Given the description of an element on the screen output the (x, y) to click on. 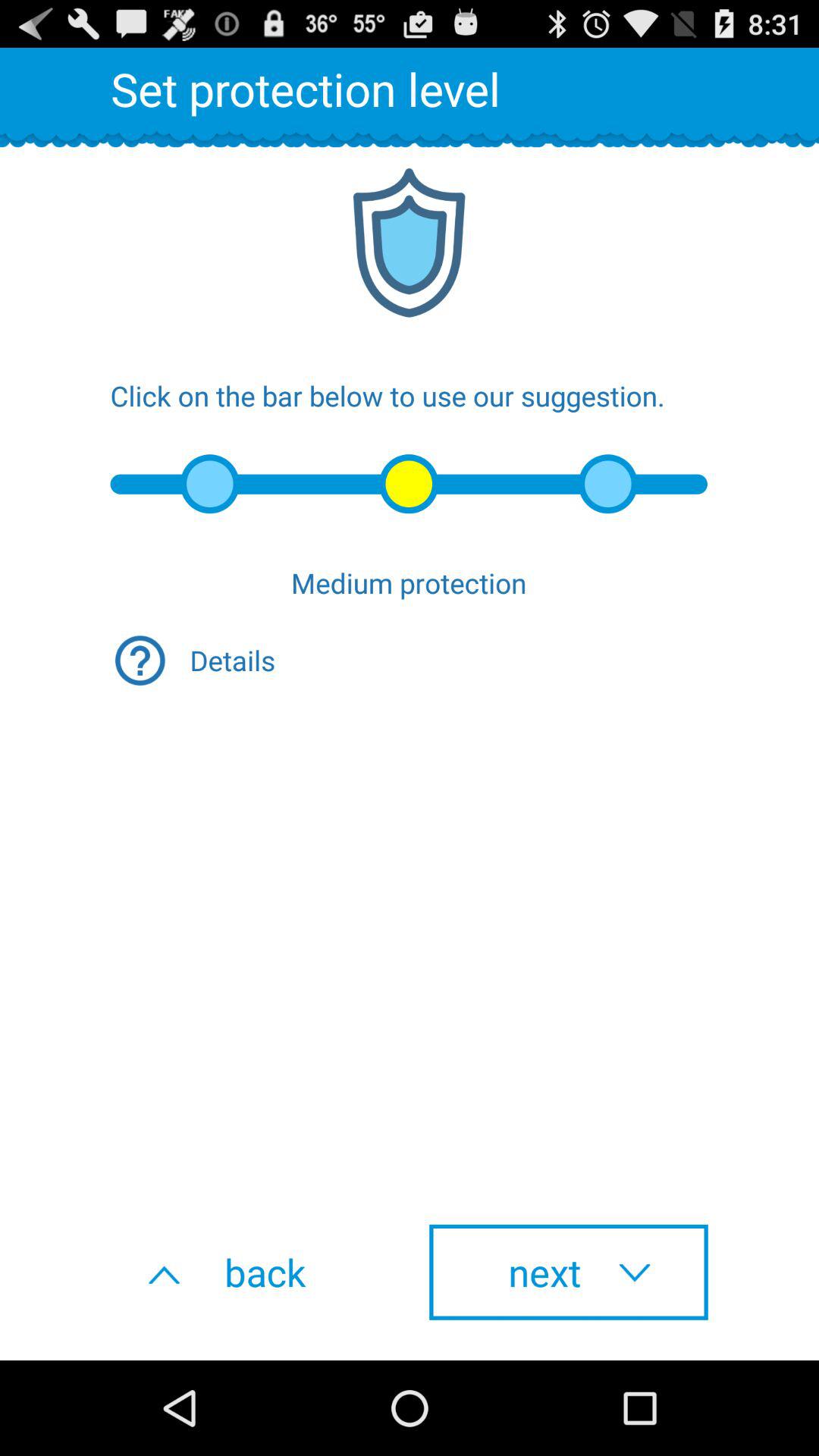
press the icon at the bottom right corner (568, 1272)
